Given the description of an element on the screen output the (x, y) to click on. 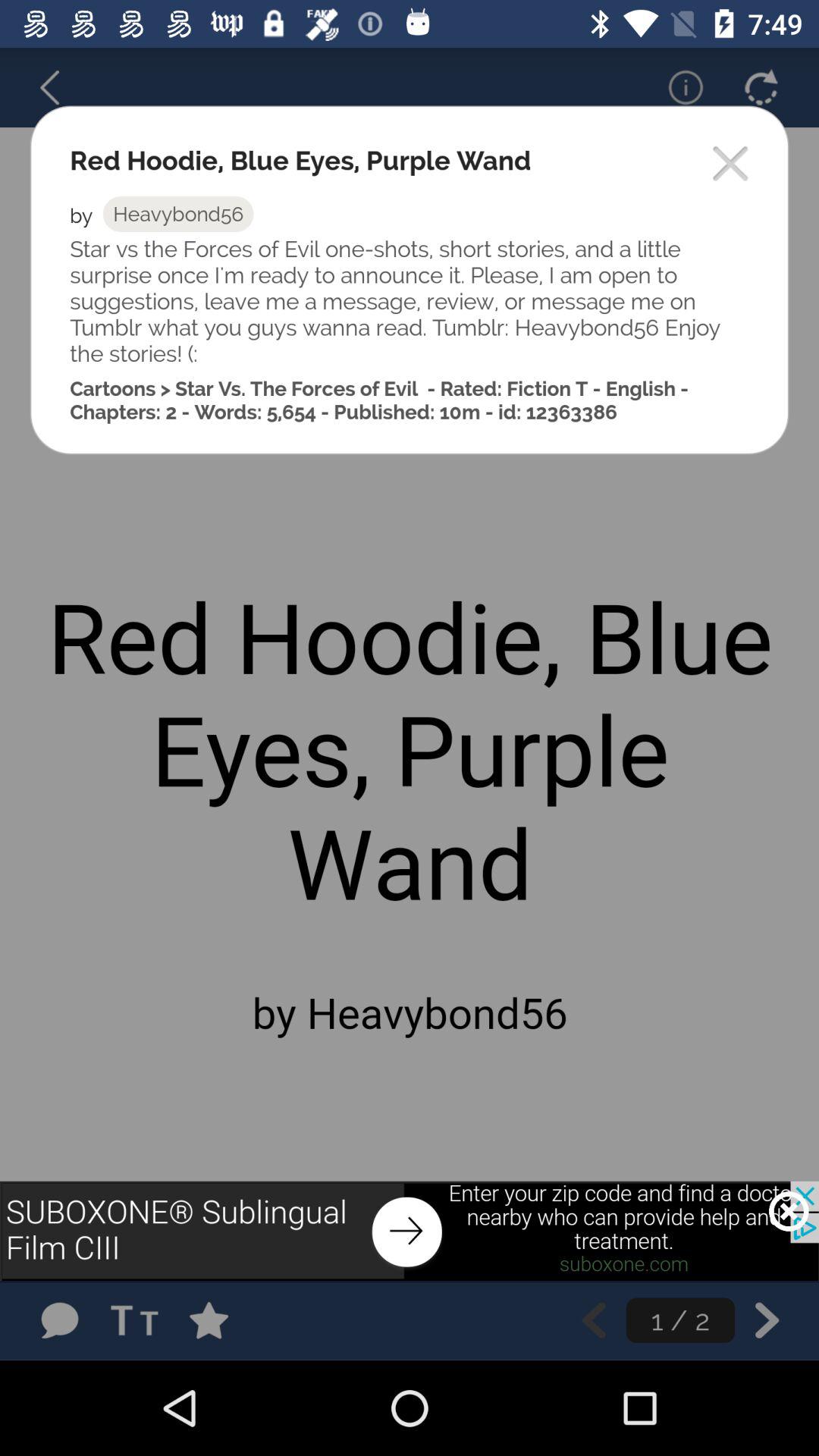
give a rating (224, 1320)
